Given the description of an element on the screen output the (x, y) to click on. 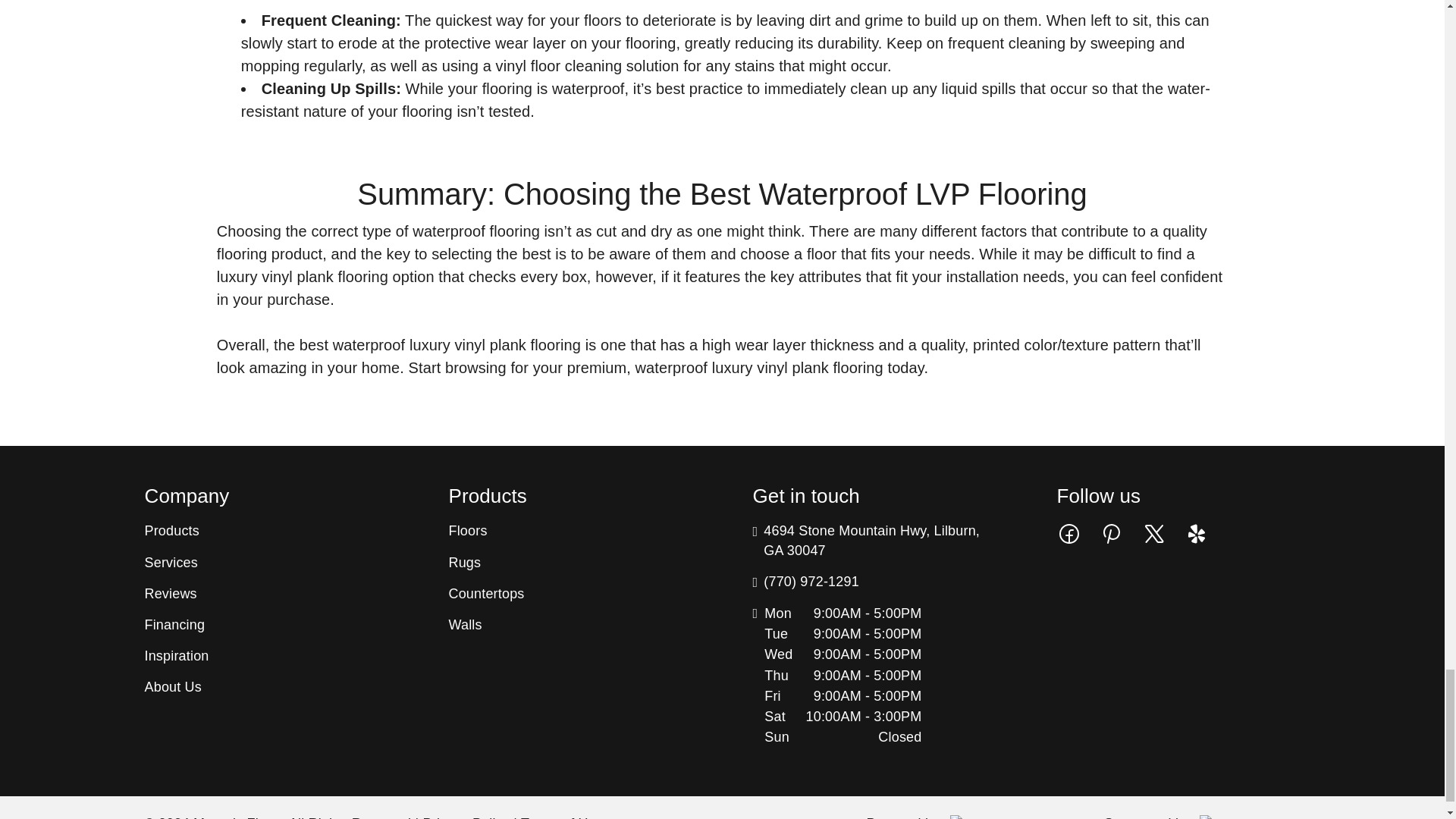
Marquis Floors on Facebook (1069, 532)
Marquis Floors on Pinterest (1111, 532)
Marquis Floors on Twitter (1153, 532)
Marquis Floors on Yelp (1196, 532)
